Given the description of an element on the screen output the (x, y) to click on. 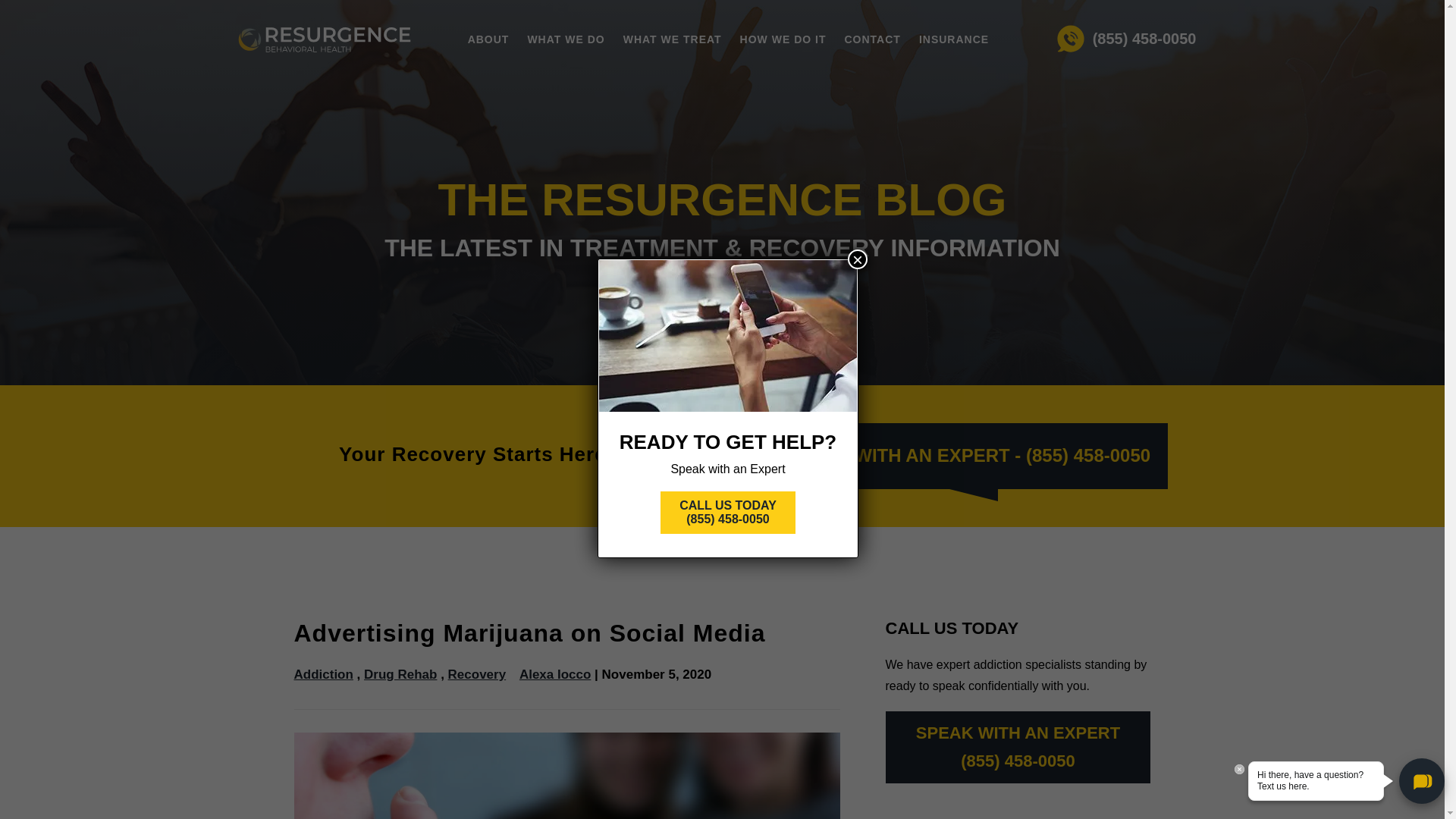
WHAT WE TREAT (672, 39)
ABOUT (488, 39)
HOW WE DO IT (783, 39)
WHAT WE DO (565, 39)
